Given the description of an element on the screen output the (x, y) to click on. 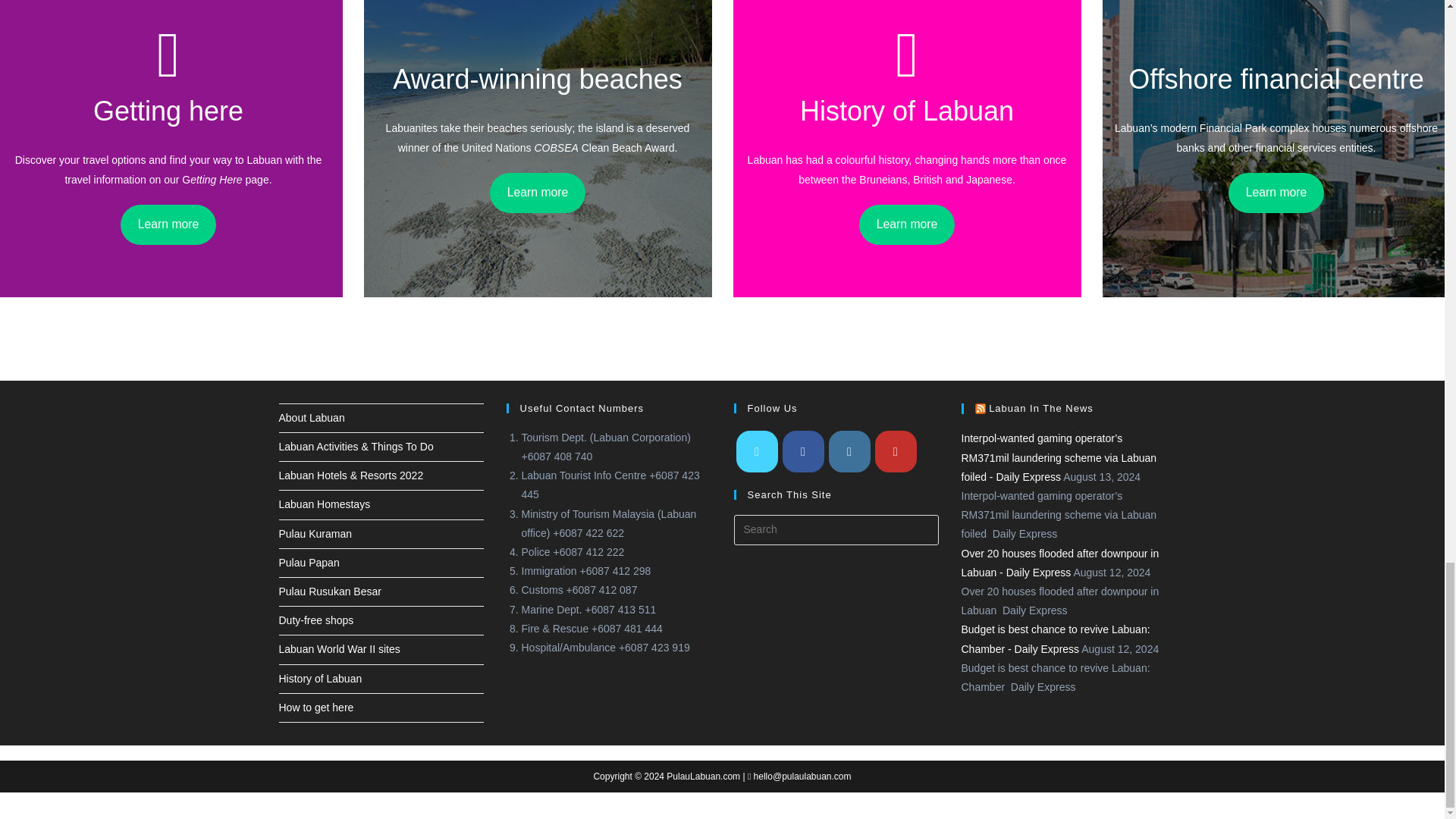
Learn more (168, 224)
Learn more (907, 224)
Learn more (537, 192)
Learn more (1276, 192)
